Given the description of an element on the screen output the (x, y) to click on. 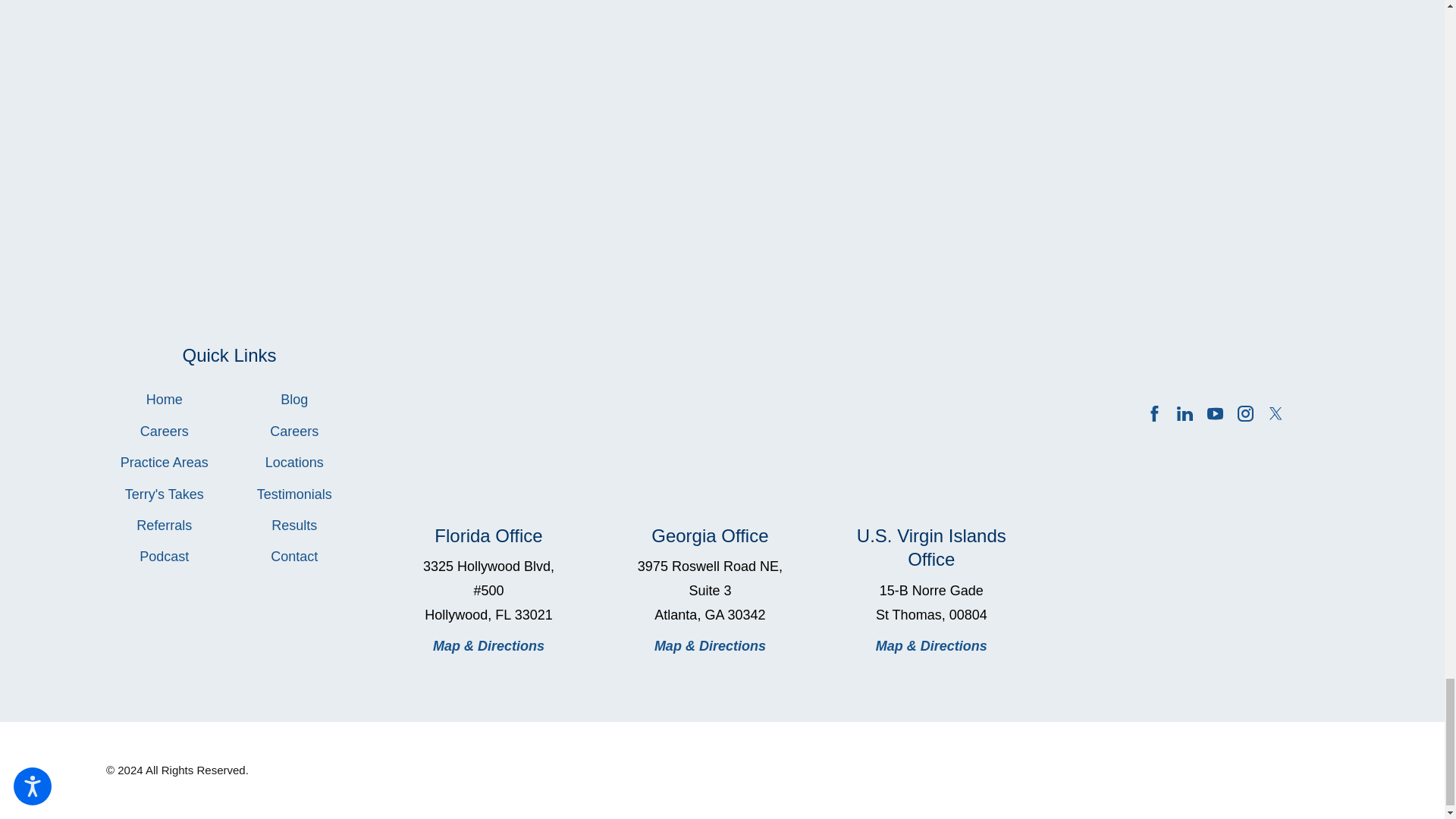
LinkedIn (1184, 413)
Facebook (1154, 413)
YouTube (1215, 413)
